Given the description of an element on the screen output the (x, y) to click on. 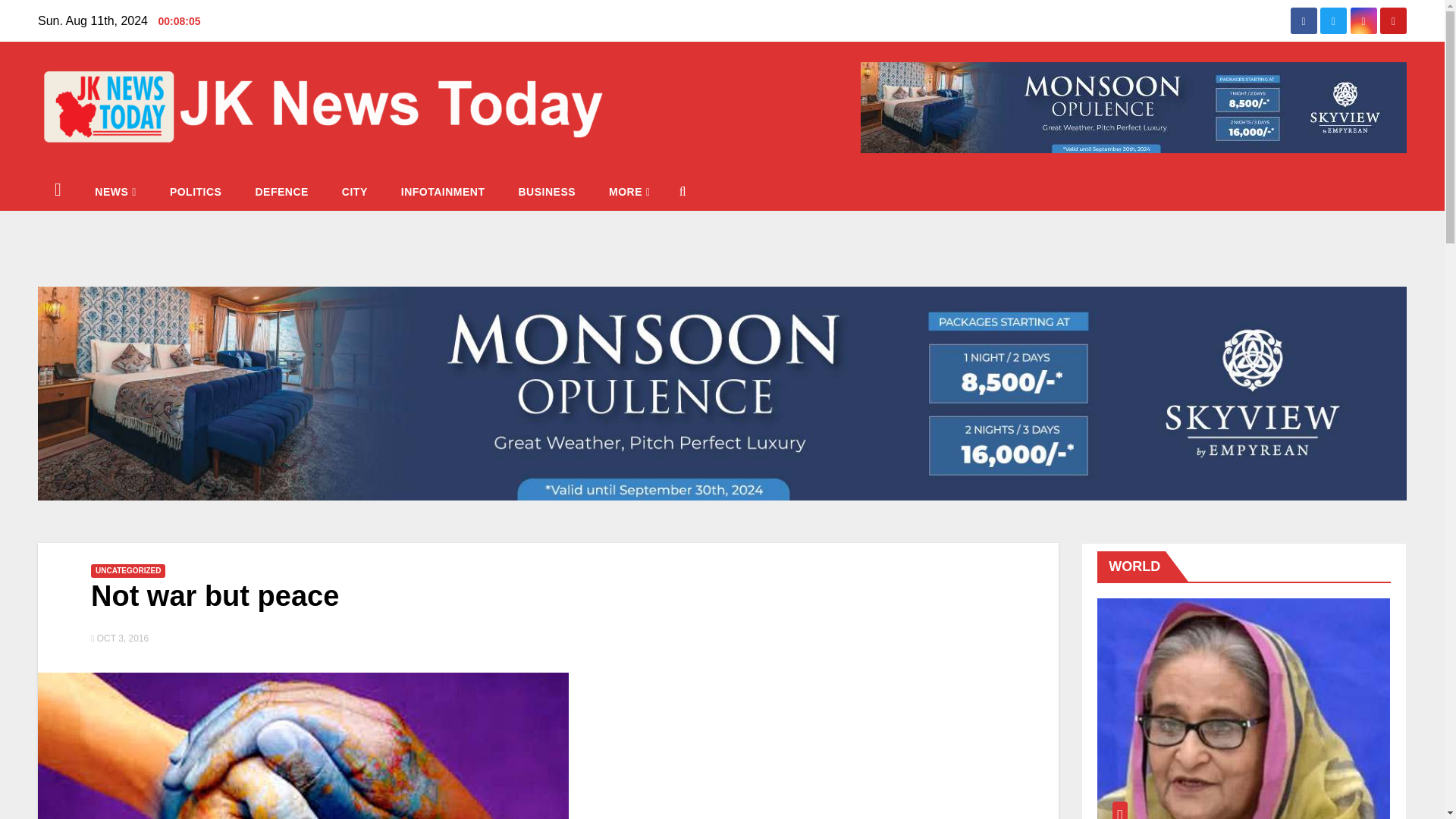
INFOTAINMENT (443, 191)
CITY (354, 191)
DEFENCE (281, 191)
MORE (629, 191)
BUSINESS (546, 191)
Permalink to: Not war but peace (214, 595)
UNCATEGORIZED (127, 571)
NEWS (115, 191)
POLITICS (195, 191)
